Given the description of an element on the screen output the (x, y) to click on. 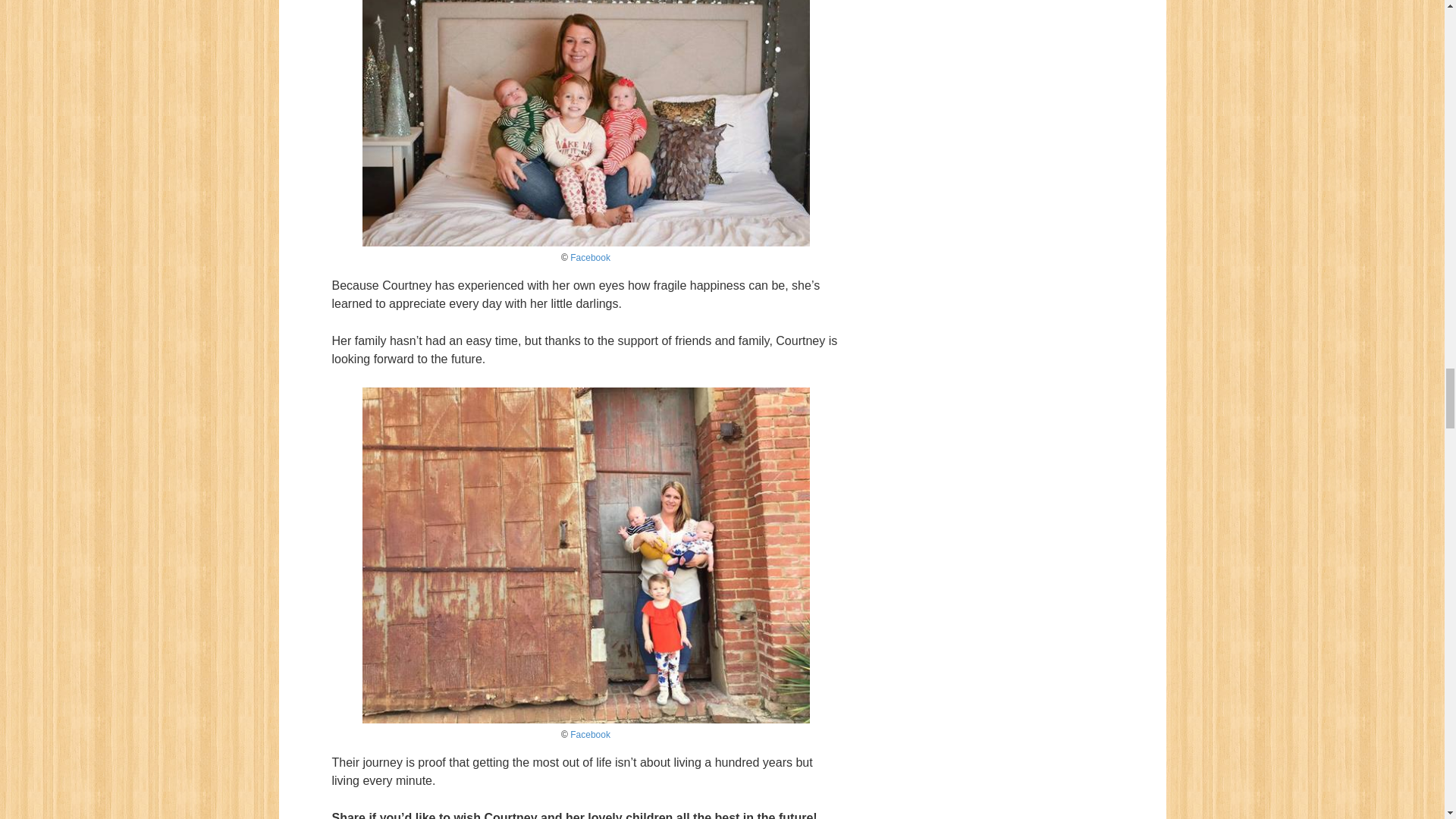
Facebook (590, 734)
Facebook (590, 257)
